Given the description of an element on the screen output the (x, y) to click on. 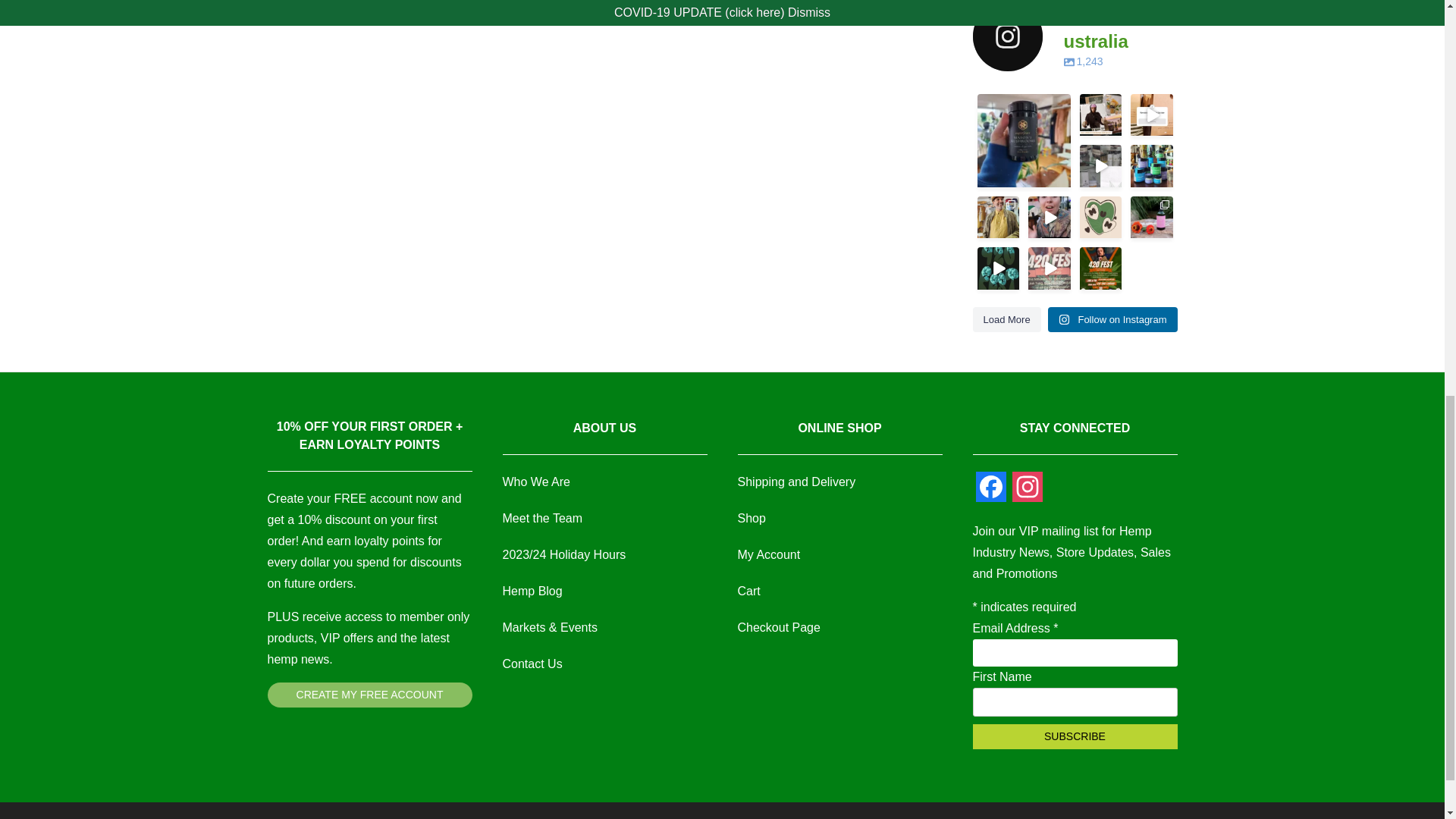
Subscribe (1074, 736)
